Given the description of an element on the screen output the (x, y) to click on. 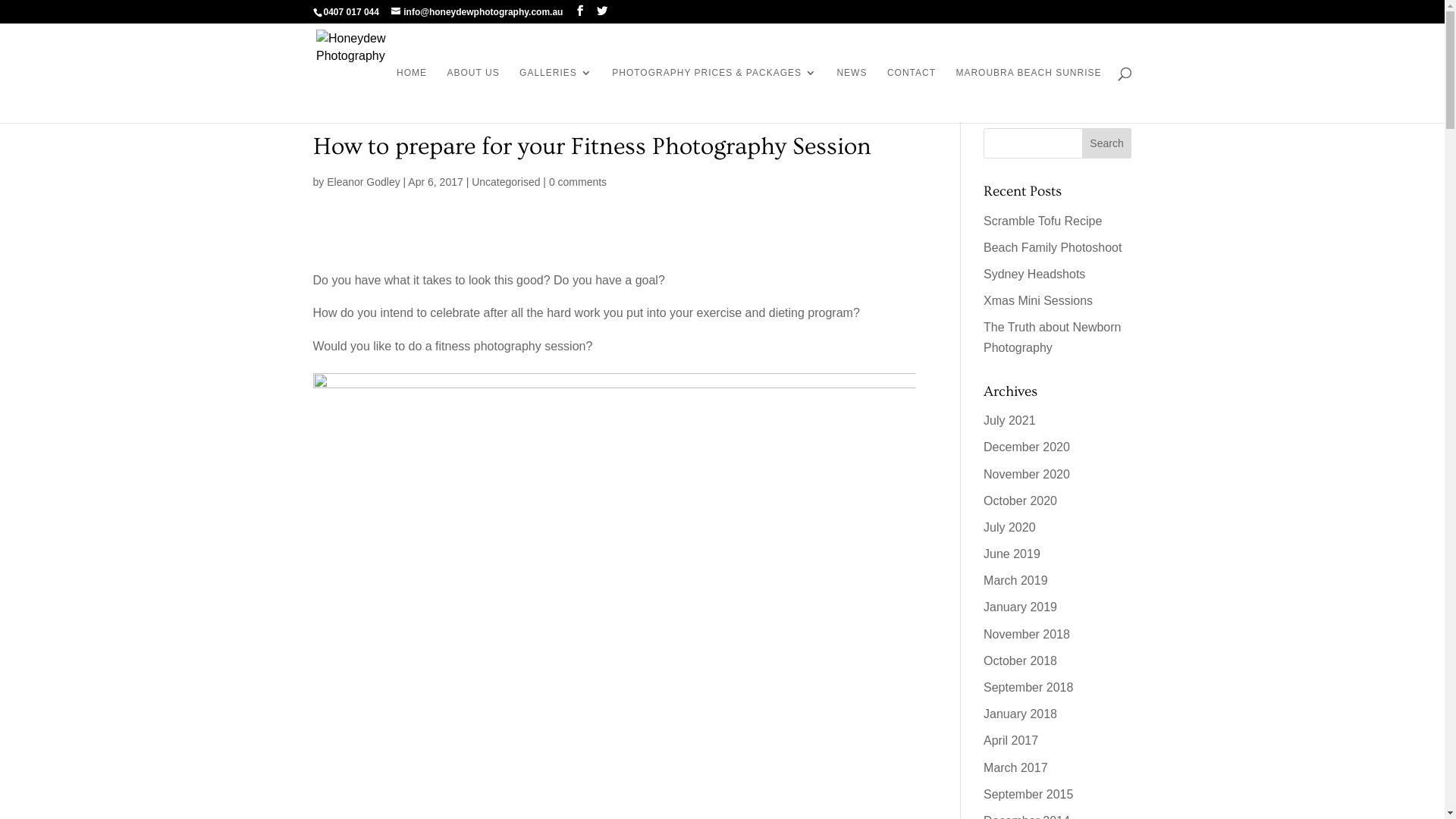
HOME Element type: text (411, 94)
October 2018 Element type: text (1020, 660)
March 2017 Element type: text (1015, 767)
September 2018 Element type: text (1028, 686)
Beach Family Photoshoot Element type: text (1052, 247)
0 comments Element type: text (577, 181)
November 2018 Element type: text (1026, 633)
Sydney Headshots Element type: text (1034, 273)
January 2019 Element type: text (1020, 606)
The Truth about Newborn Photography Element type: text (1051, 337)
Xmas Mini Sessions Element type: text (1037, 300)
November 2020 Element type: text (1026, 473)
October 2020 Element type: text (1020, 500)
June 2019 Element type: text (1011, 553)
July 2020 Element type: text (1009, 526)
Eleanor Godley Element type: text (363, 181)
Search Element type: text (1107, 143)
September 2015 Element type: text (1028, 793)
March 2019 Element type: text (1015, 580)
MAROUBRA BEACH SUNRISE Element type: text (1028, 94)
Uncategorised Element type: text (505, 181)
GALLERIES Element type: text (555, 94)
ABOUT US Element type: text (473, 94)
July 2021 Element type: text (1009, 420)
January 2018 Element type: text (1020, 713)
CONTACT Element type: text (911, 94)
NEWS Element type: text (851, 94)
Scramble Tofu Recipe Element type: text (1042, 219)
info@honeydewphotography.com.au Element type: text (476, 11)
December 2020 Element type: text (1026, 446)
PHOTOGRAPHY PRICES & PACKAGES Element type: text (713, 94)
April 2017 Element type: text (1010, 740)
